Given the description of an element on the screen output the (x, y) to click on. 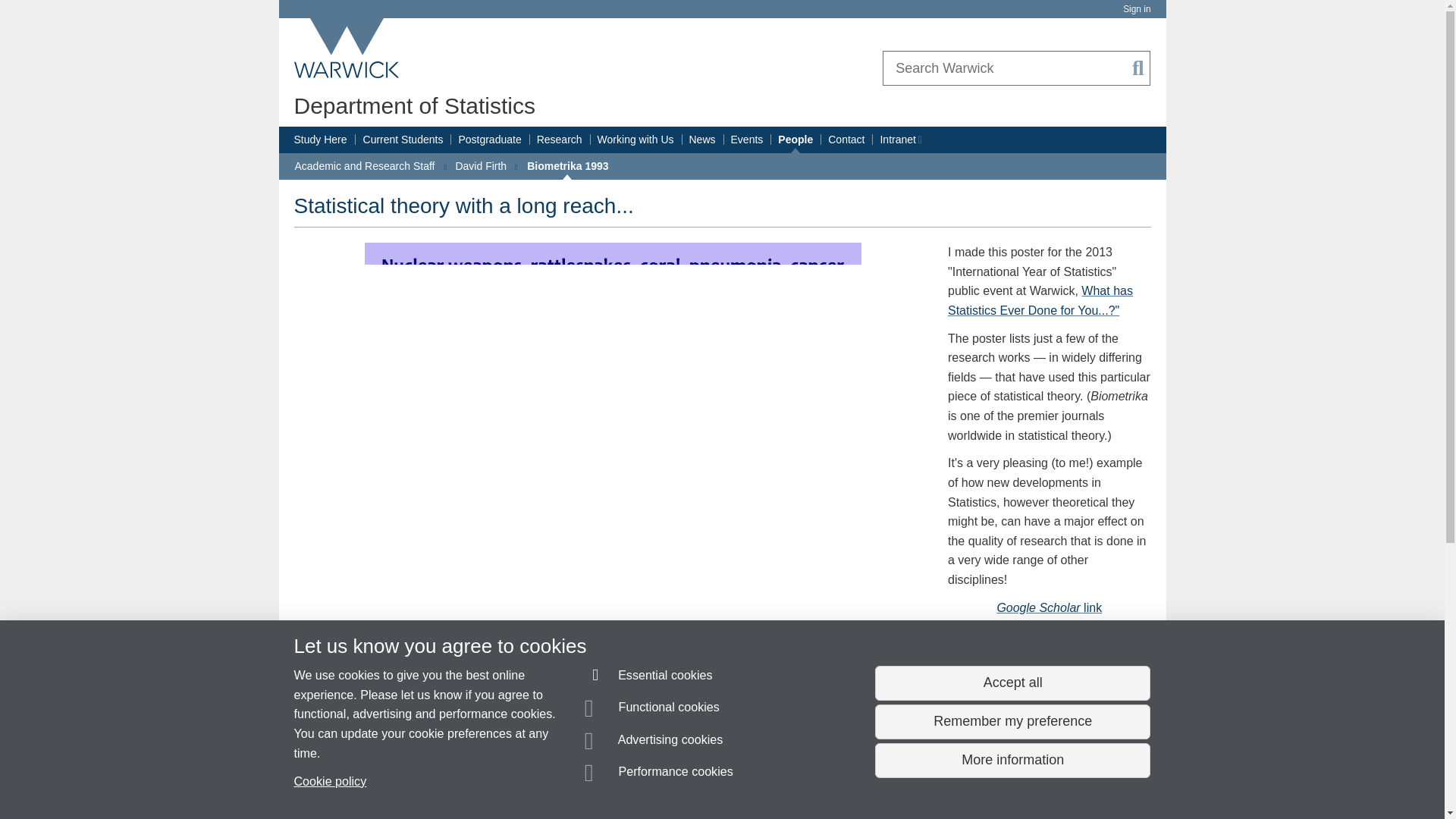
Postgraduate (489, 139)
Restricted permissions (918, 140)
Study Here (320, 139)
University of Warwick homepage (346, 48)
Research (559, 139)
Sign in (1136, 9)
Current Students (403, 139)
Department of Statistics (414, 105)
Search (1138, 68)
